Given the description of an element on the screen output the (x, y) to click on. 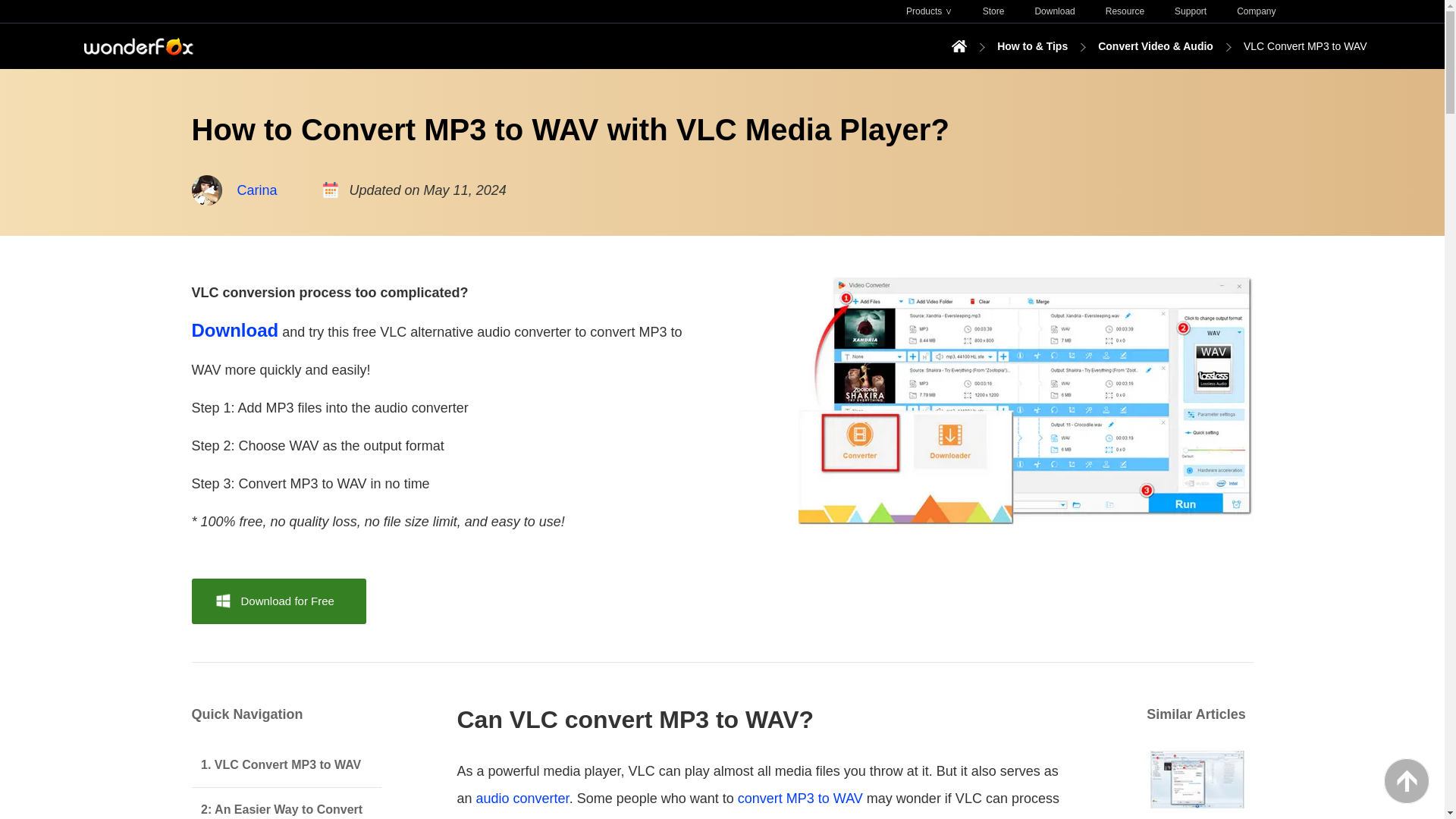
Download (234, 331)
WonderFox - the Fastest DVD Ripper and HD Video Converter (137, 45)
2: An Easier Way to Convert MP3 to WAV Free (285, 803)
convert MP3 to WAV (800, 798)
audio converter (522, 798)
Back to Top (1406, 780)
1. VLC Convert MP3 to WAV (285, 764)
Carina (255, 190)
